Given the description of an element on the screen output the (x, y) to click on. 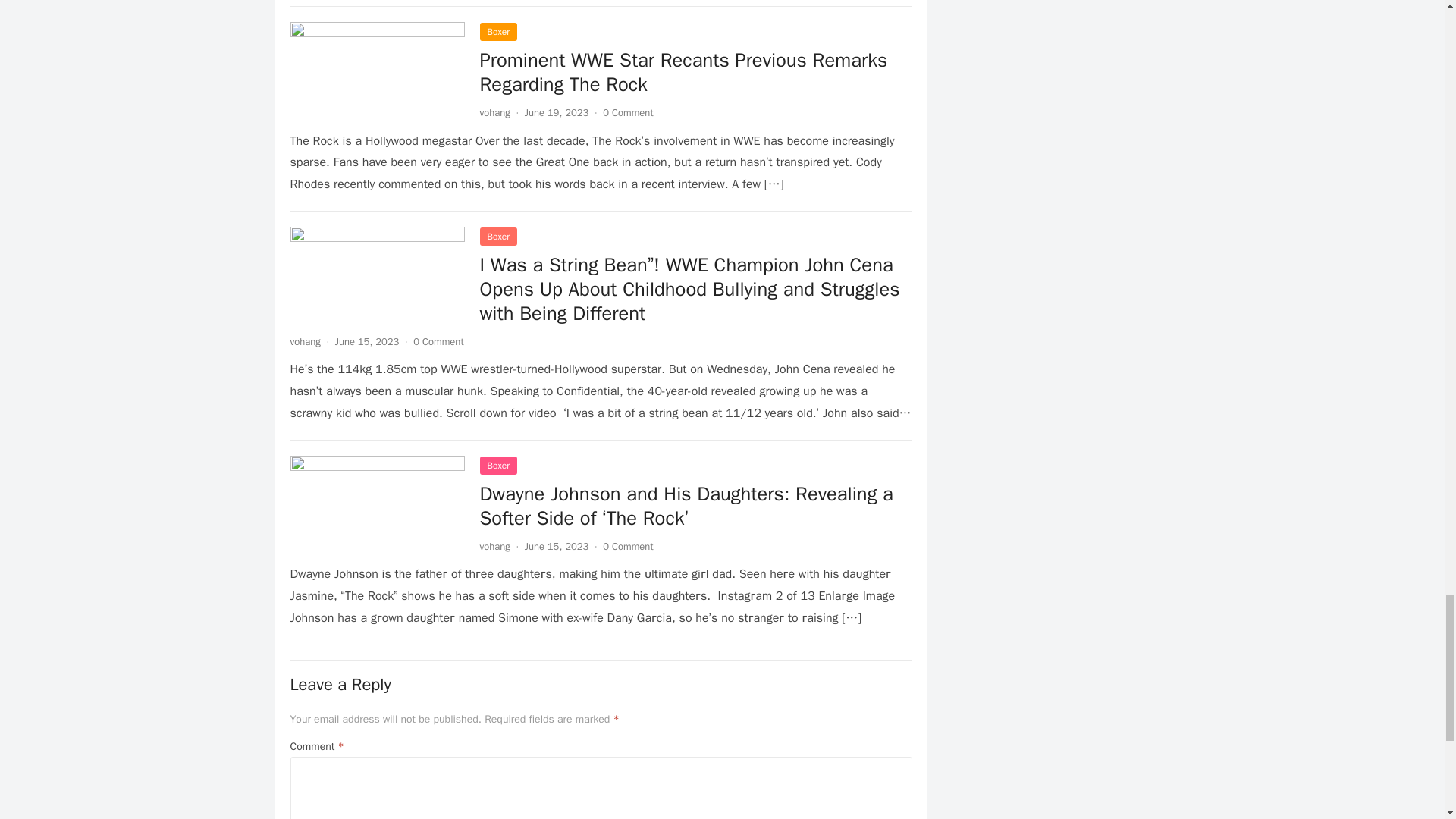
Posts by vohang (494, 545)
Posts by vohang (304, 341)
Posts by vohang (494, 112)
